Given the description of an element on the screen output the (x, y) to click on. 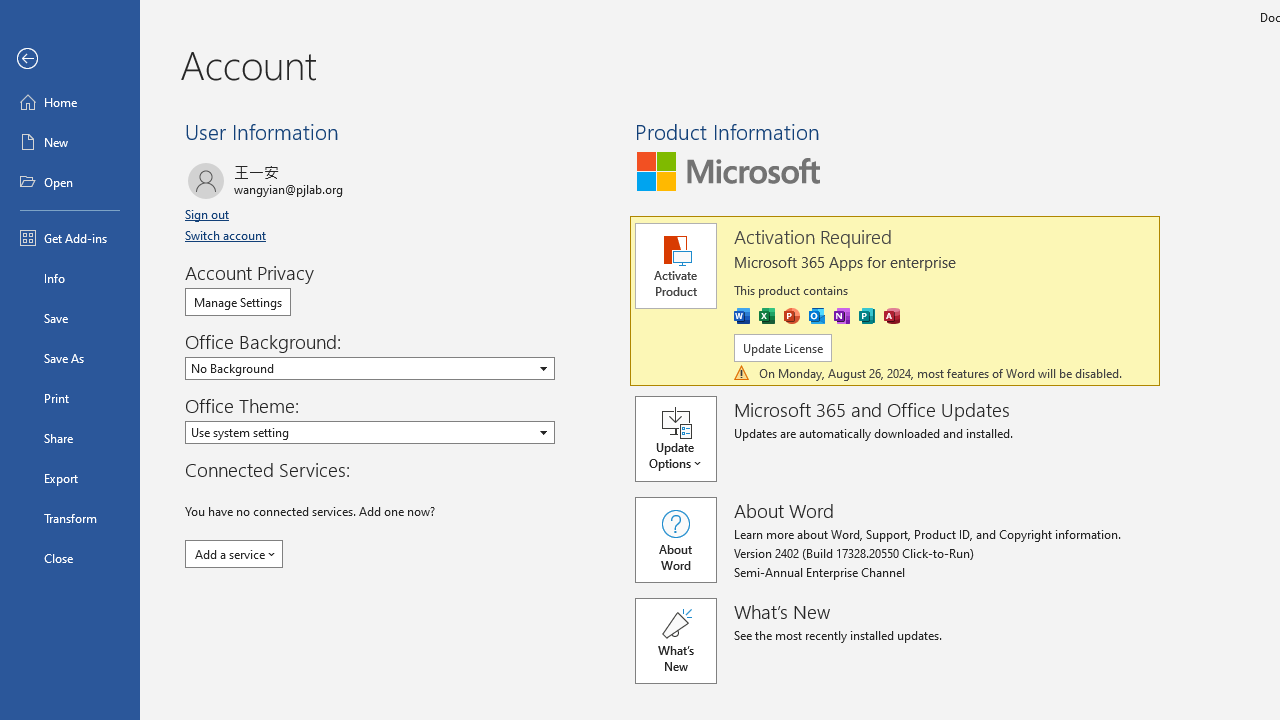
PowerPoint (791, 316)
Transform (69, 517)
Save As (69, 357)
Word (741, 316)
Add a service (233, 554)
Info (69, 277)
Sign out (208, 214)
Get Add-ins (69, 237)
Access (891, 316)
